Given the description of an element on the screen output the (x, y) to click on. 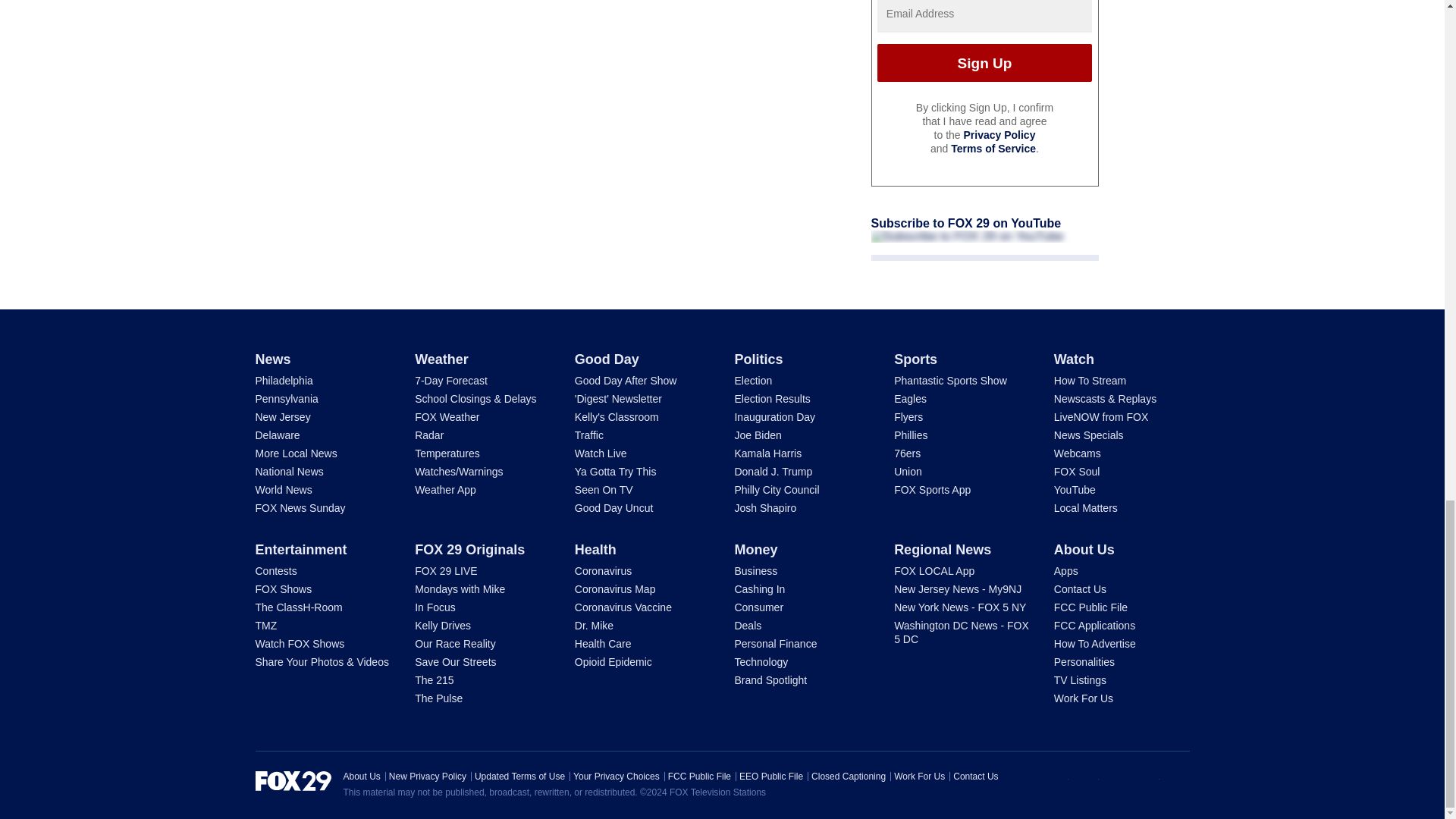
Sign Up (984, 62)
